Given the description of an element on the screen output the (x, y) to click on. 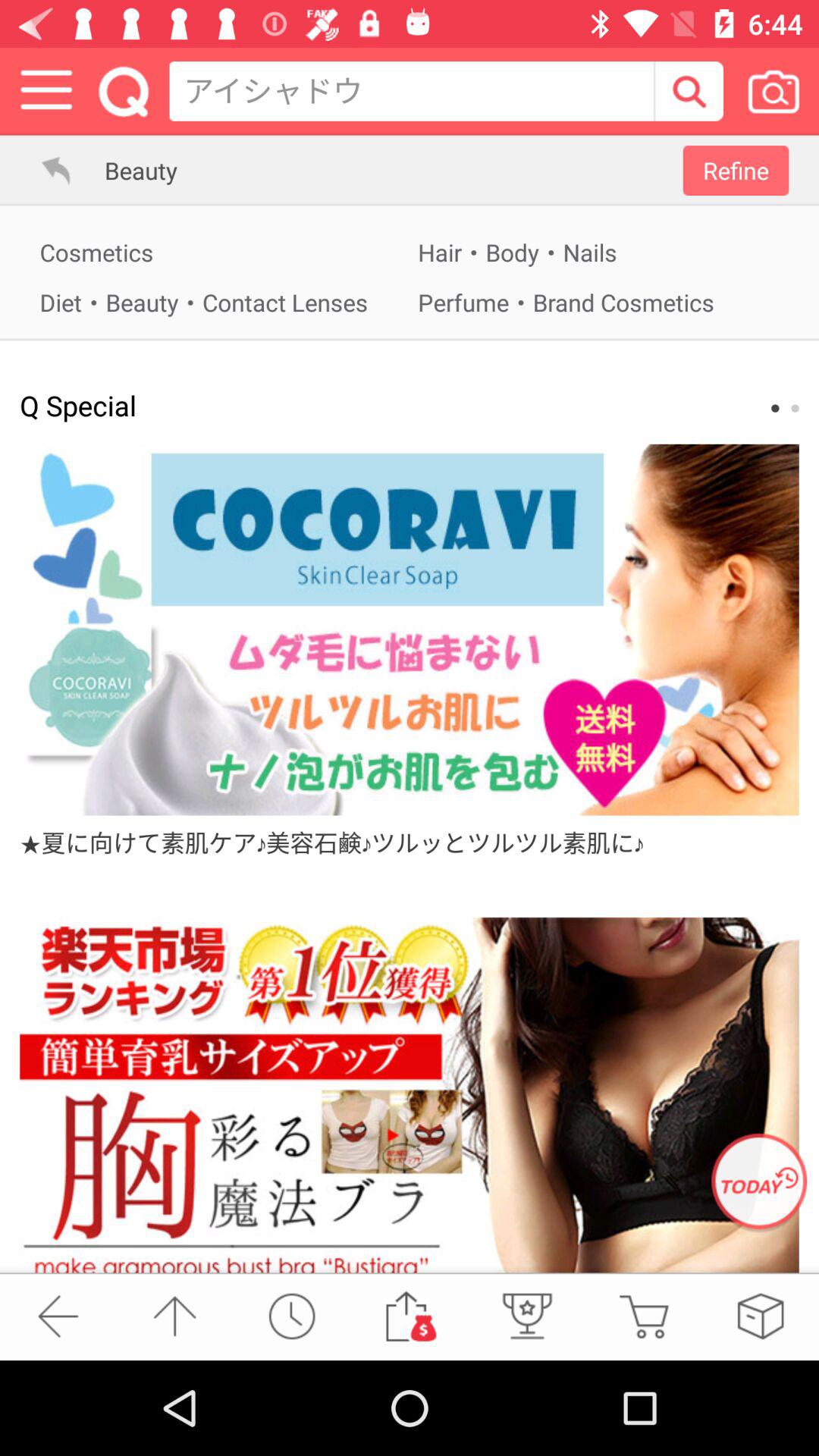
top of page (174, 1316)
